Given the description of an element on the screen output the (x, y) to click on. 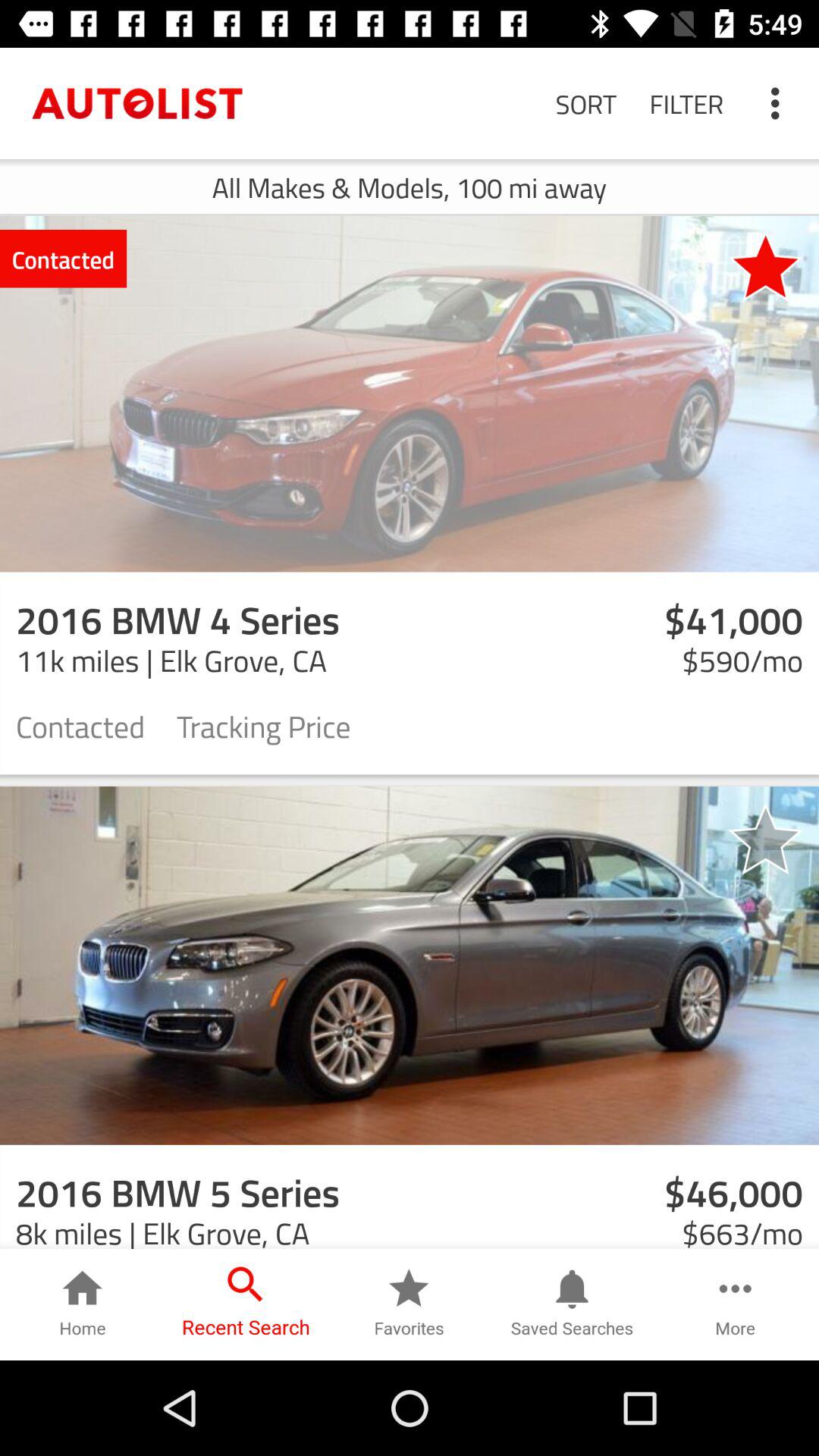
launch the icon to the right of the sort icon (686, 103)
